Given the description of an element on the screen output the (x, y) to click on. 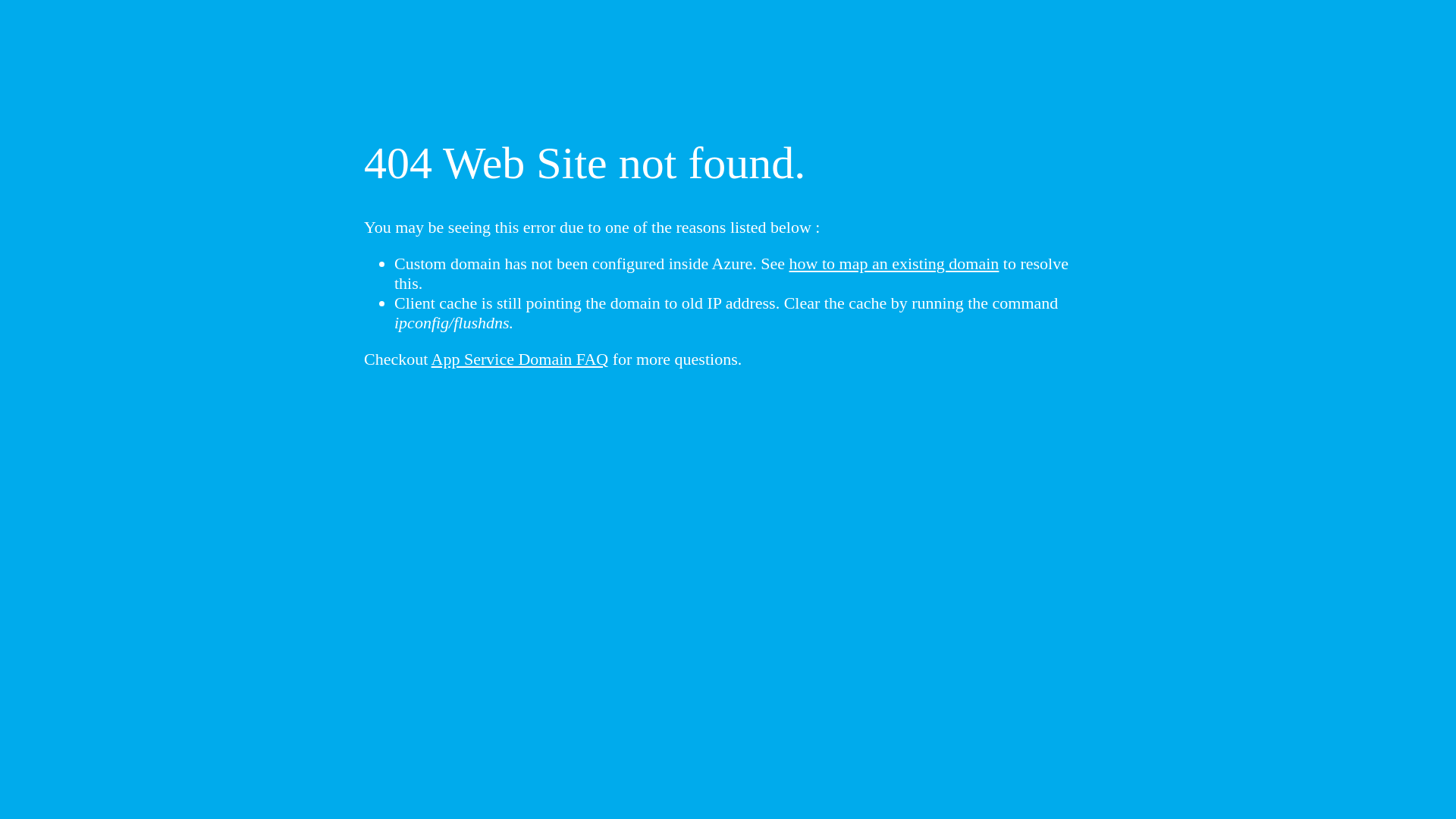
how to map an existing domain Element type: text (894, 263)
App Service Domain FAQ Element type: text (519, 358)
